Given the description of an element on the screen output the (x, y) to click on. 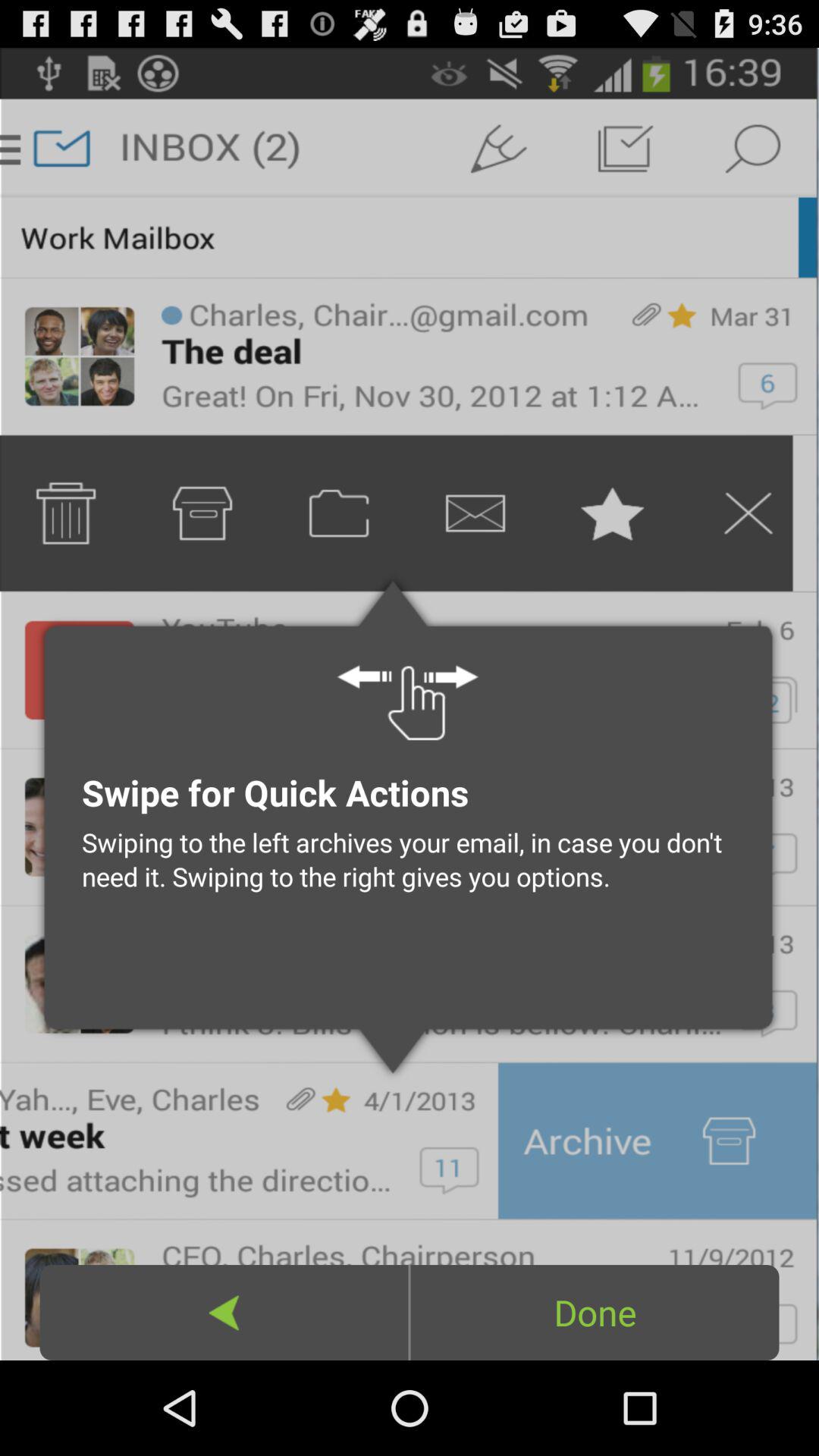
press done at the bottom right corner (594, 1312)
